Given the description of an element on the screen output the (x, y) to click on. 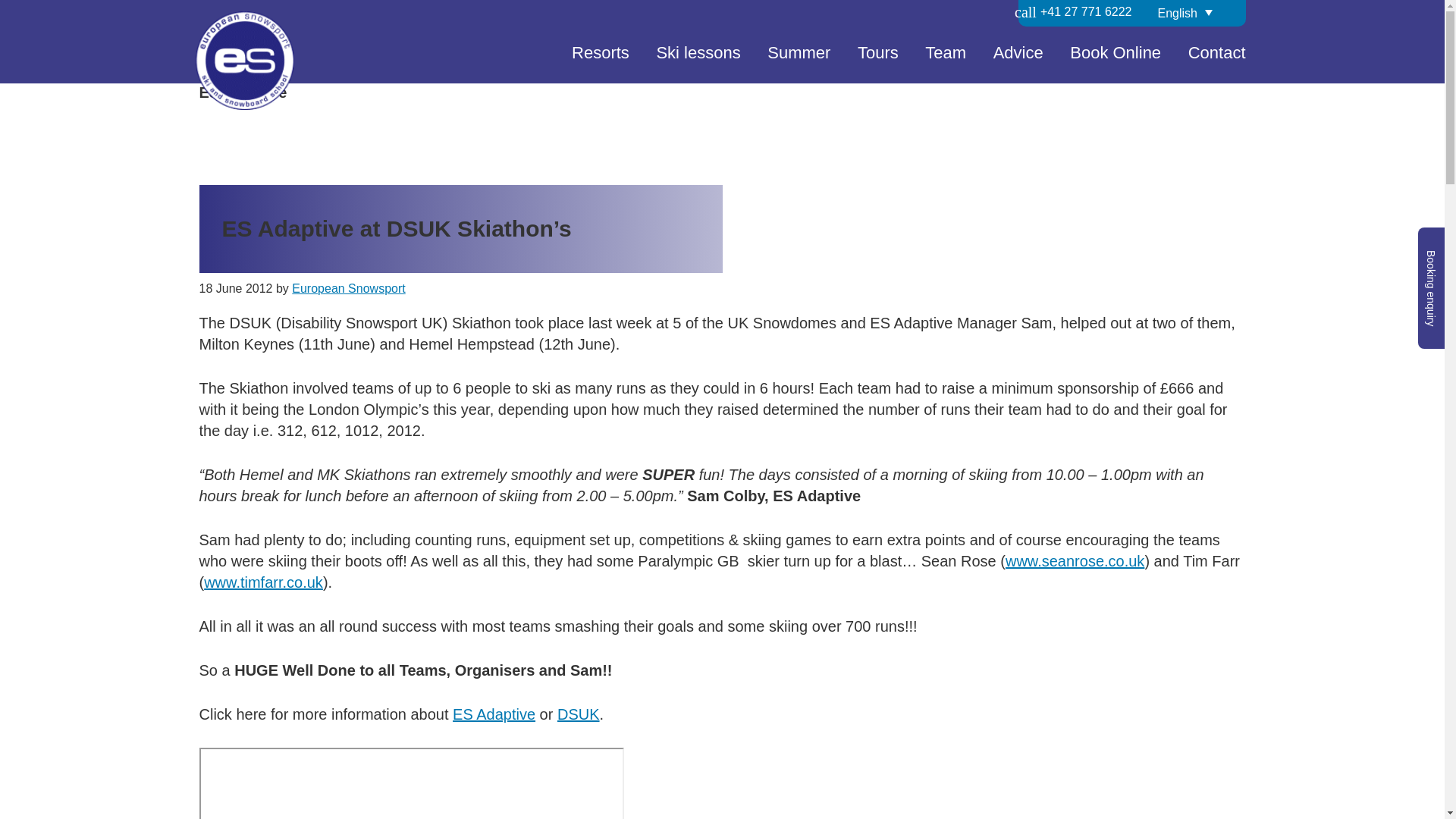
Ski lessons (698, 58)
Resorts (600, 58)
Team (945, 58)
Summer (798, 58)
ES Adaptive (493, 713)
English (1195, 12)
DSUK (578, 713)
Tours (877, 58)
